Given the description of an element on the screen output the (x, y) to click on. 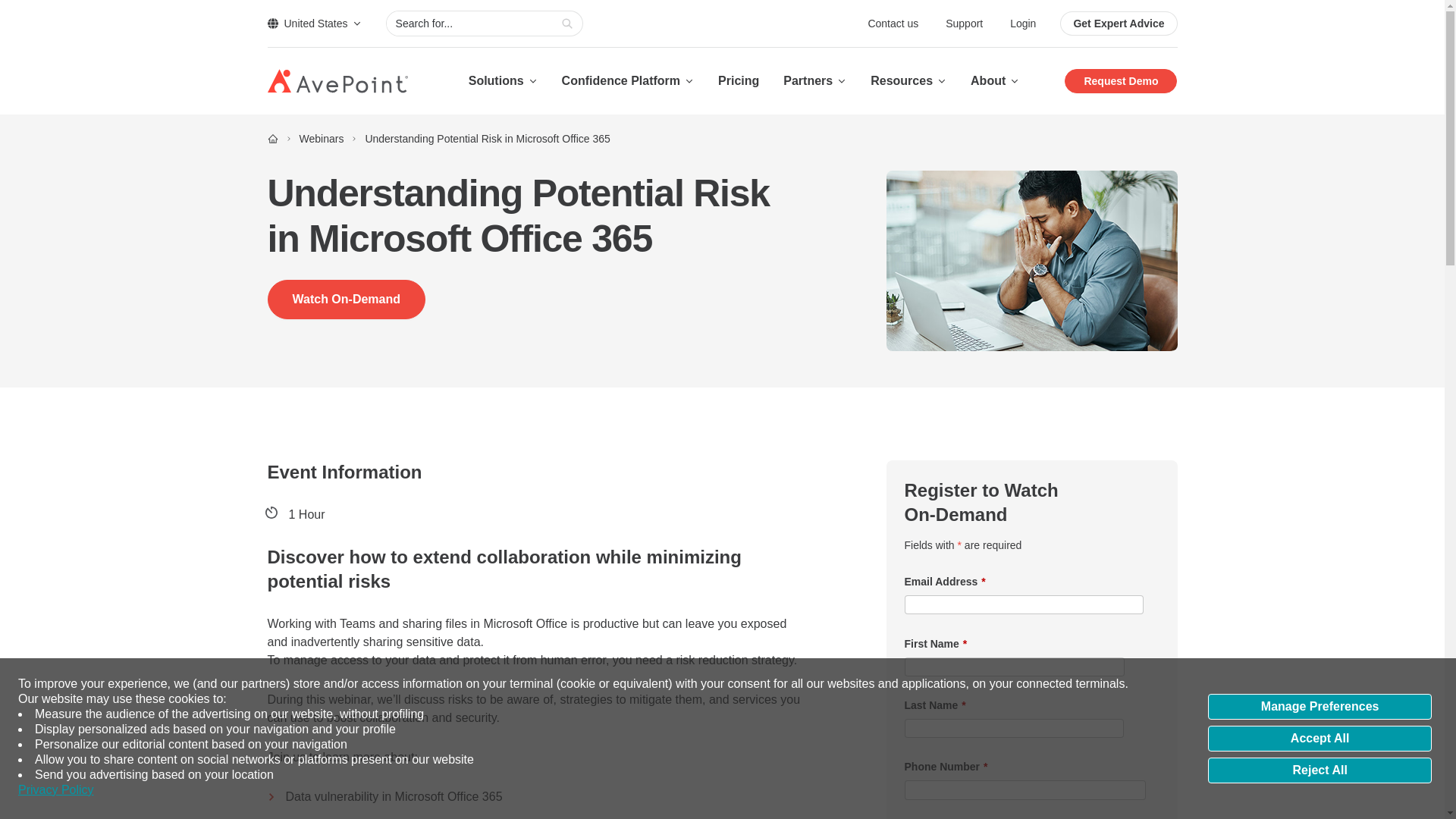
Solutions (502, 80)
United States (313, 23)
Contact us (894, 23)
Confidence Platform (628, 80)
Search (566, 23)
Accept All (1319, 738)
Reject All (1319, 769)
Get Expert Advice (1117, 23)
Manage Preferences (1319, 706)
Support (964, 23)
Privacy Policy (55, 789)
Login (1022, 23)
